Given the description of an element on the screen output the (x, y) to click on. 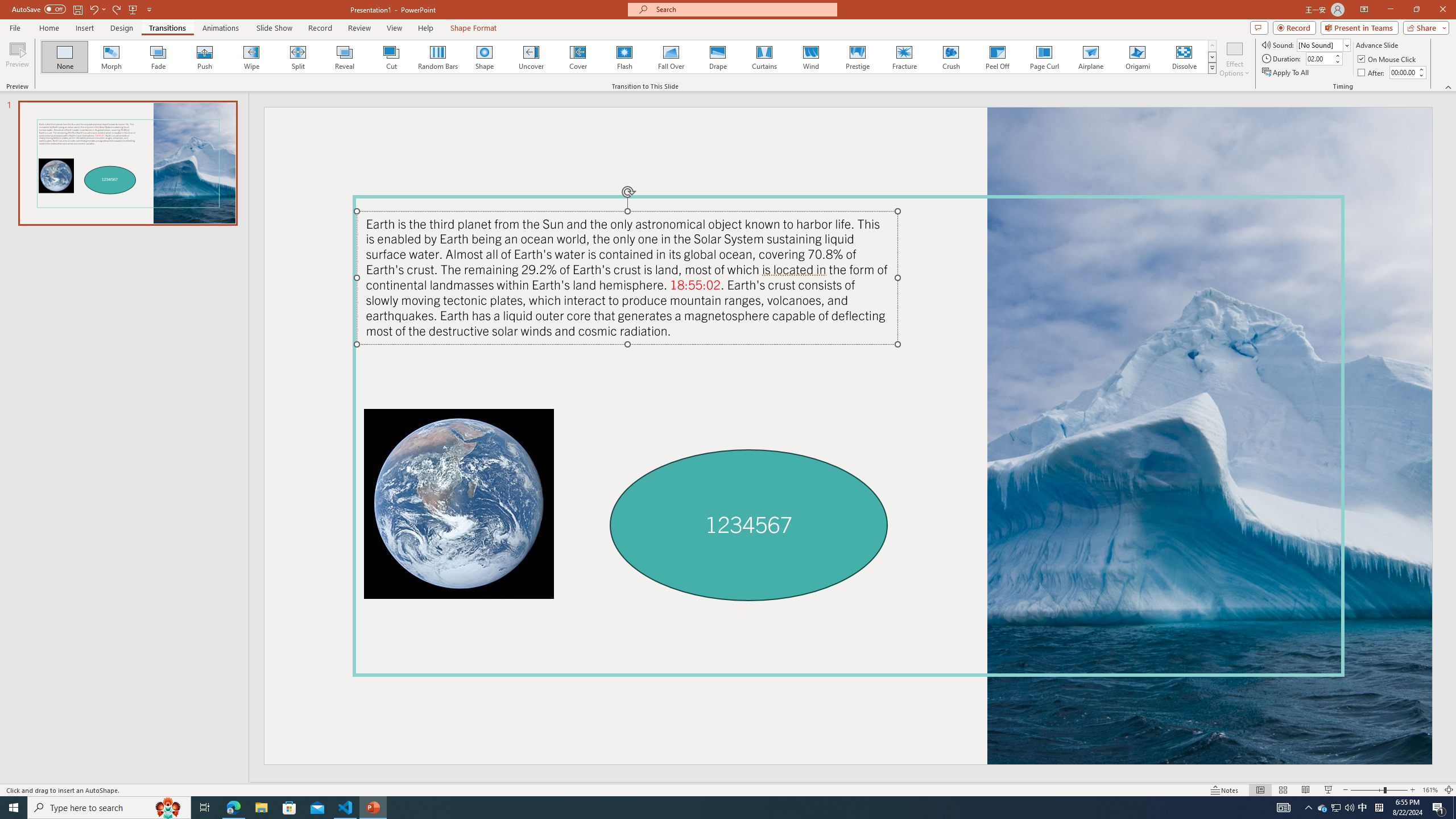
Prestige (857, 56)
Effect Options (1234, 58)
Push (205, 56)
Flash (624, 56)
Transition Effects (1212, 67)
Reveal (344, 56)
